Given the description of an element on the screen output the (x, y) to click on. 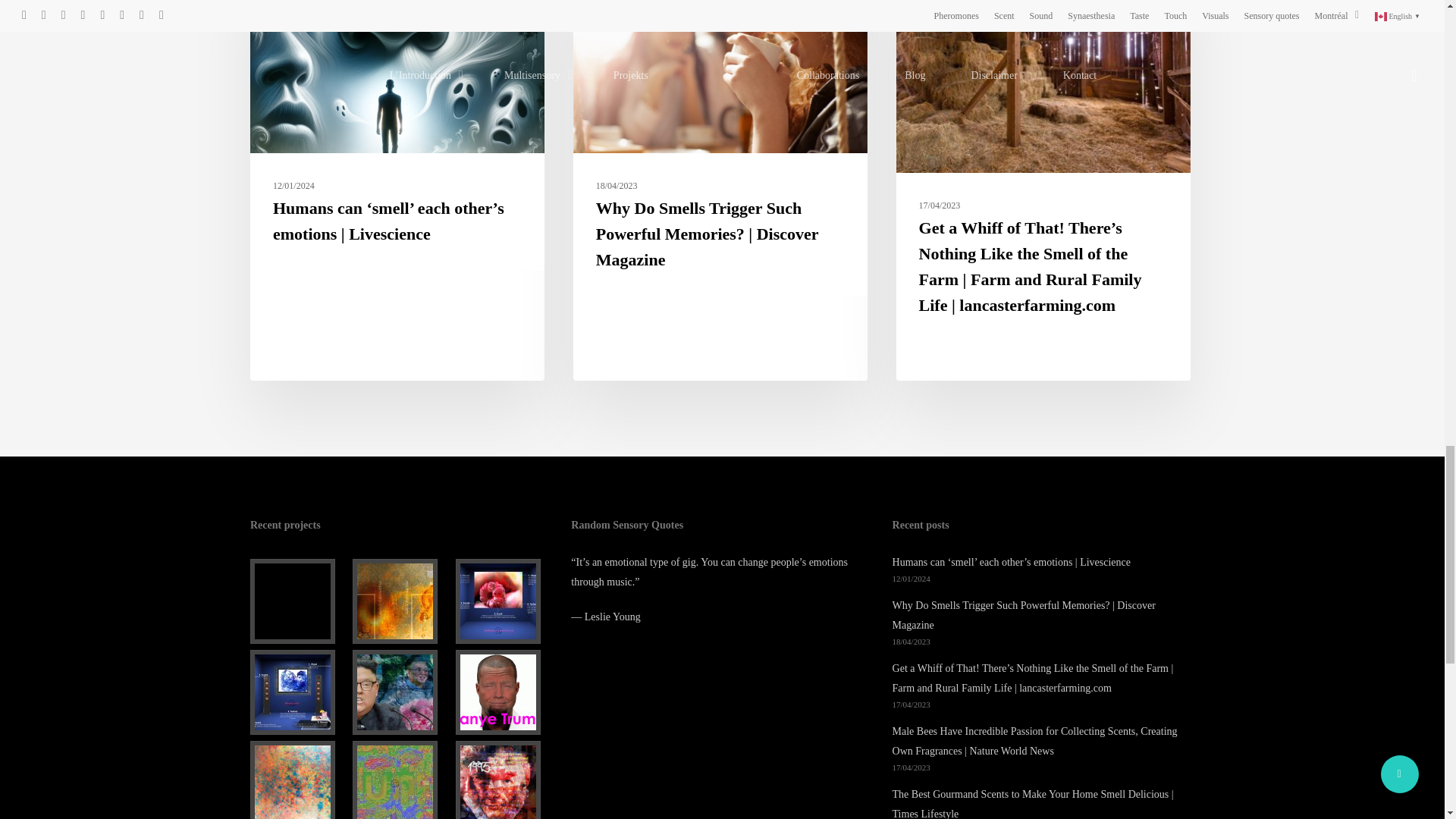
Get vaccinated. Get the Facts! (298, 600)
